Given the description of an element on the screen output the (x, y) to click on. 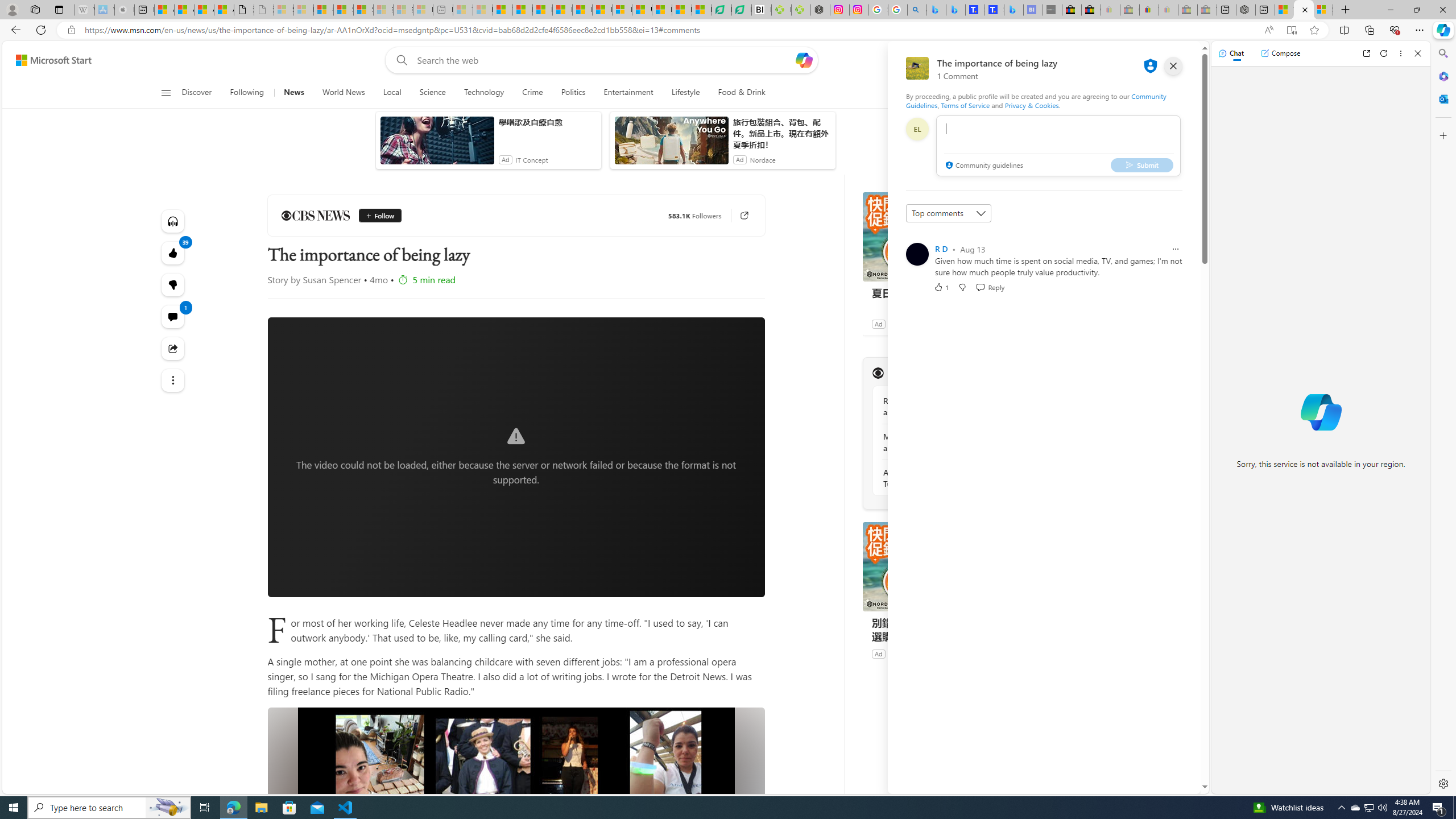
Class: at-item (172, 380)
Food and Drink - MSN (522, 9)
Top Stories - MSN - Sleeping (462, 9)
Microsoft Bing Travel - Flights from Hong Kong to Bangkok (935, 9)
